Given the description of an element on the screen output the (x, y) to click on. 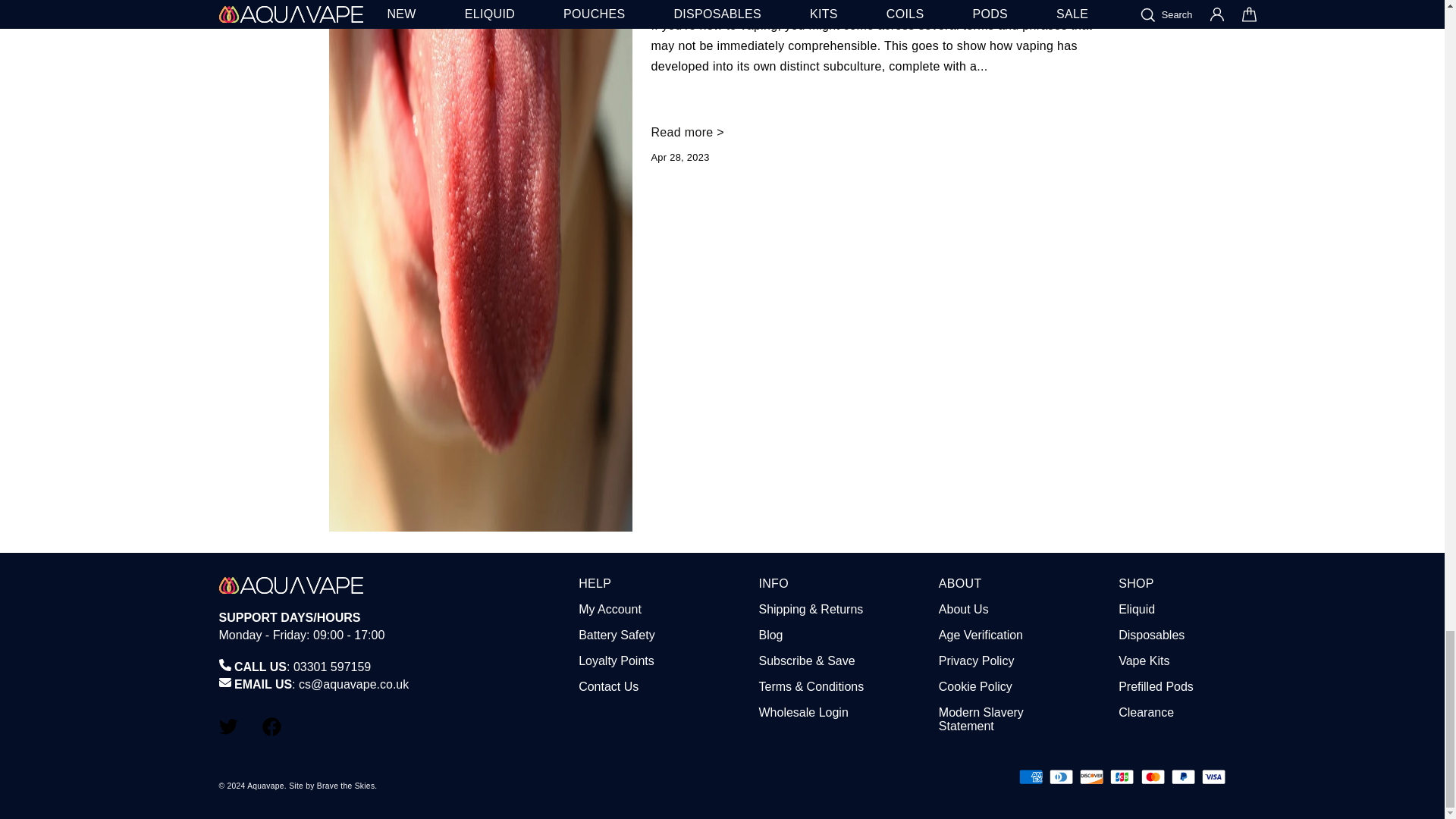
Age Verification (981, 634)
American Express (1030, 776)
About Us (963, 608)
Modern Slavery Statement (981, 718)
My Account (610, 608)
Contact Us (608, 686)
Cookie Policy (975, 686)
Visa (1213, 776)
JCB (1121, 776)
PayPal (1183, 776)
